Given the description of an element on the screen output the (x, y) to click on. 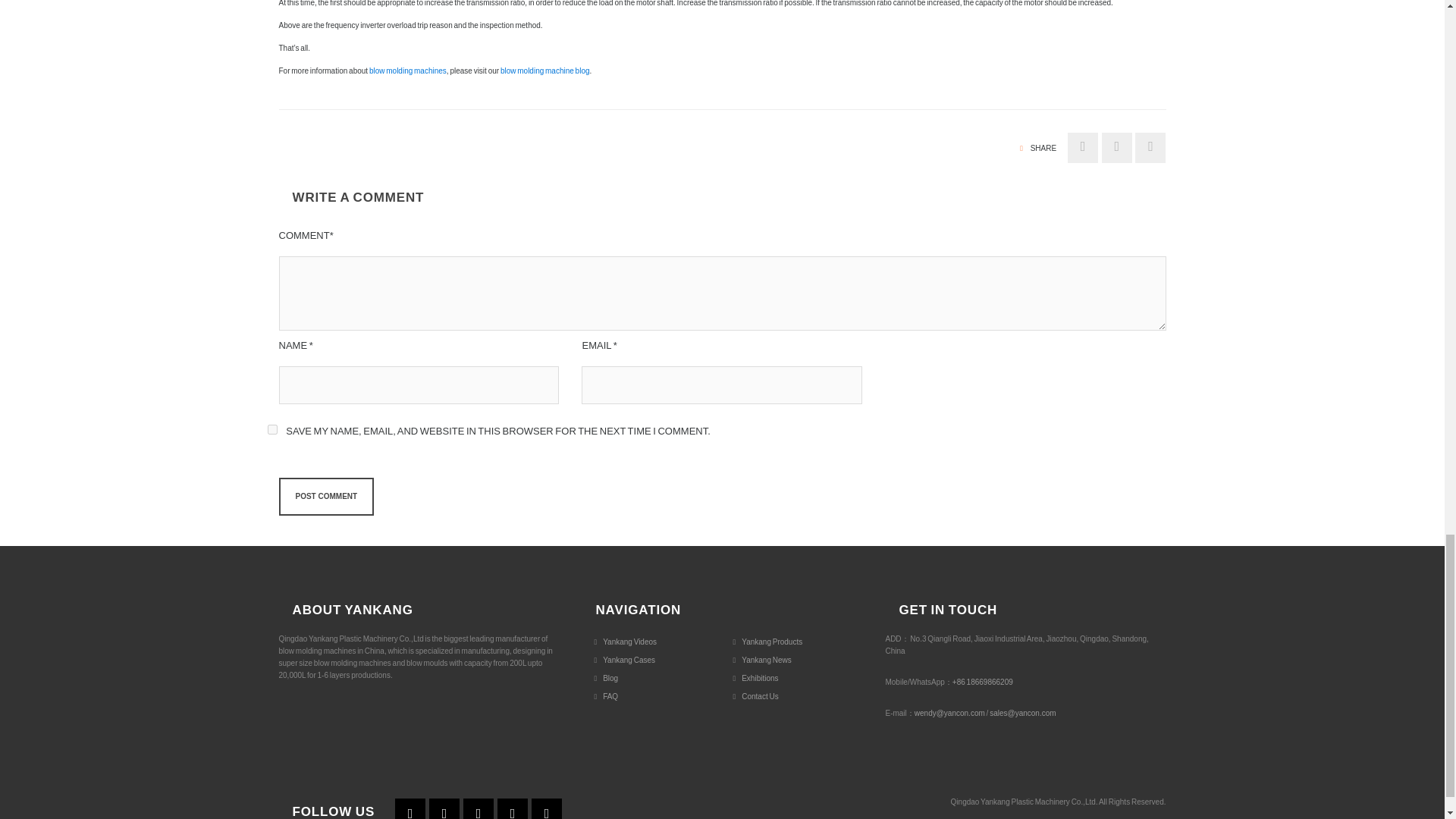
yes (271, 429)
Post Comment (326, 496)
